Given the description of an element on the screen output the (x, y) to click on. 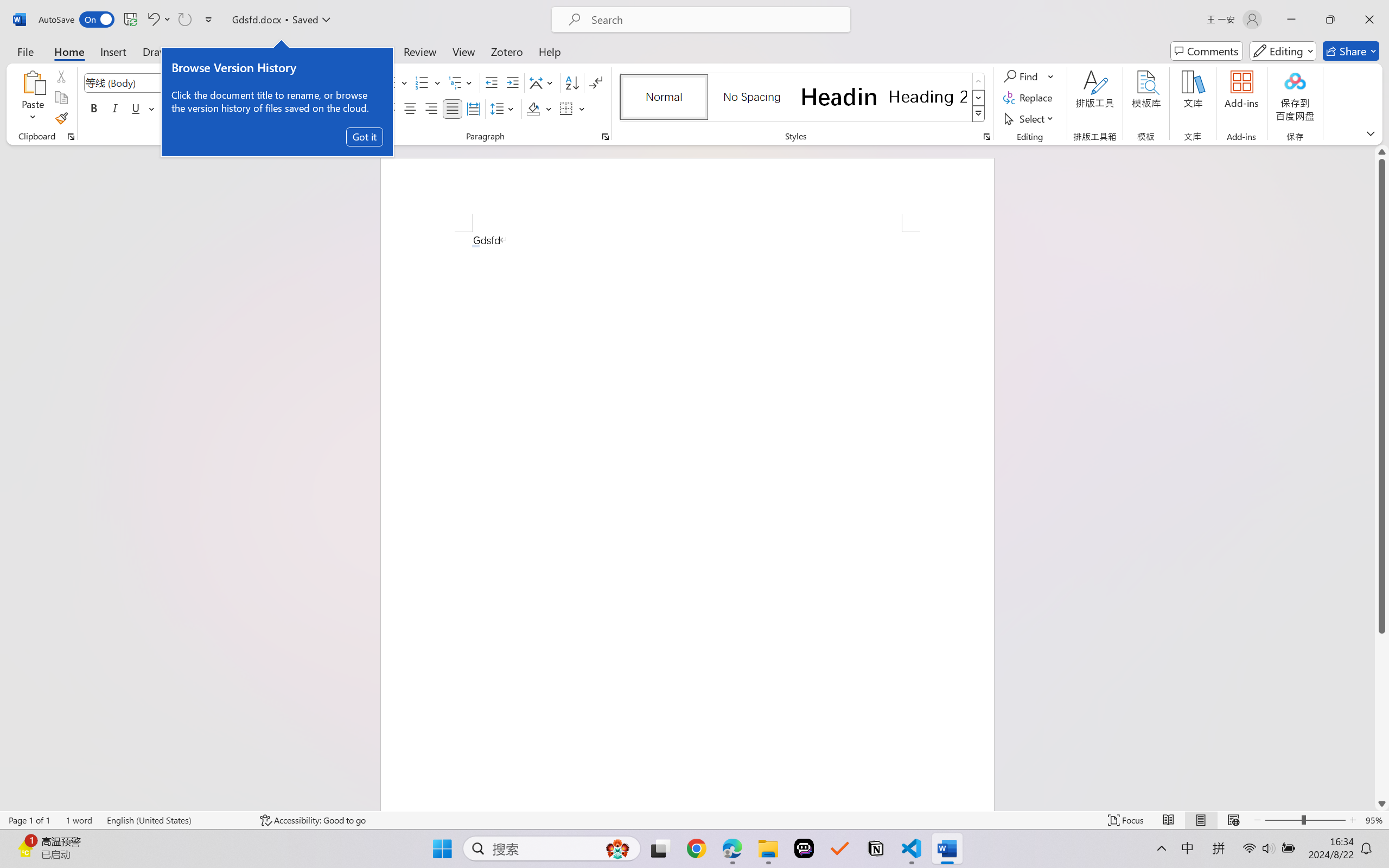
Font Color (308, 108)
Cut (60, 75)
AutomationID: QuickStylesGallery (802, 97)
Font Color Red (302, 108)
Sort... (571, 82)
Text Highlight Color Yellow (269, 108)
Clear Formatting (313, 82)
Font... (365, 136)
